Given the description of an element on the screen output the (x, y) to click on. 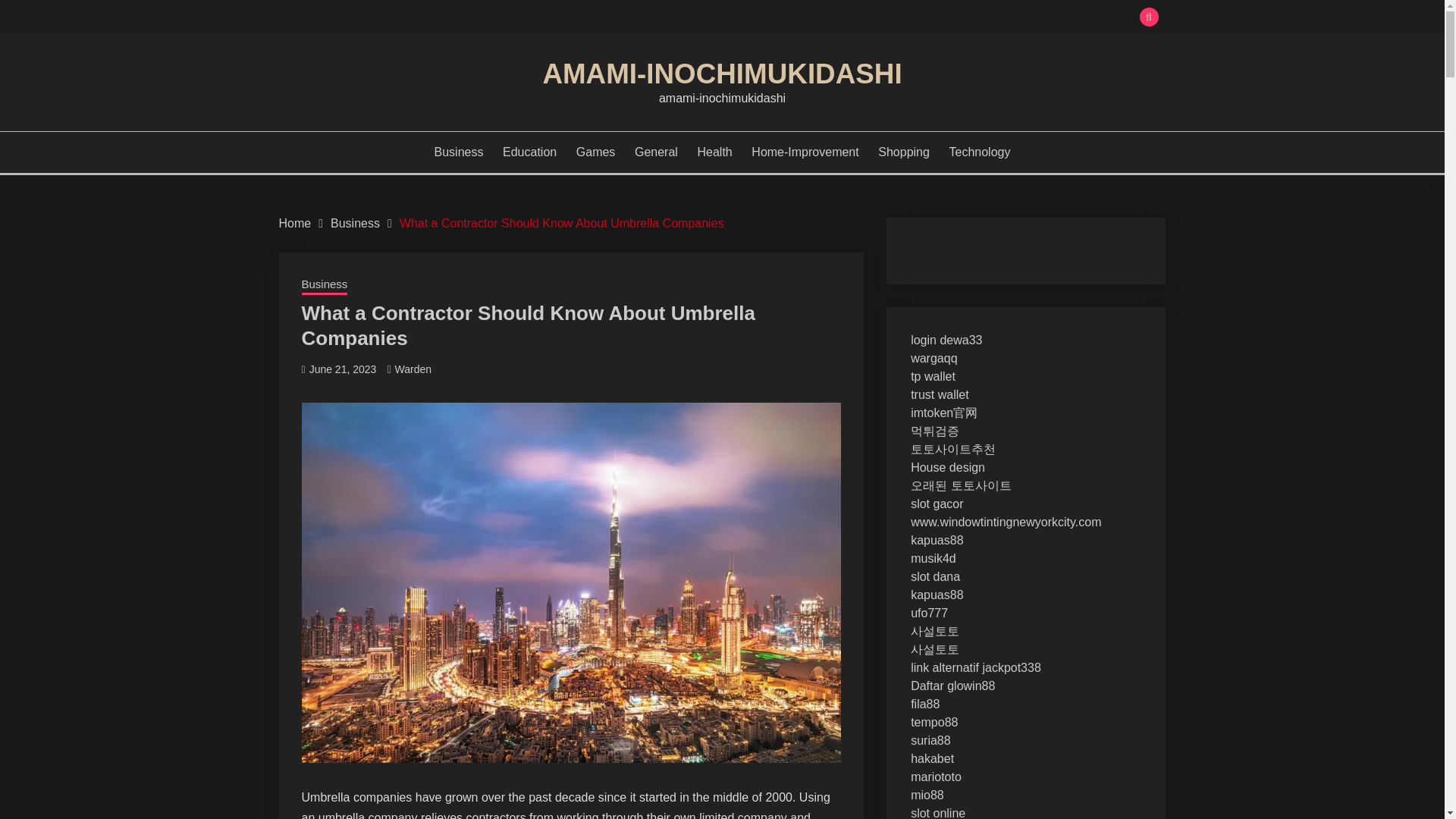
Warden (412, 369)
Home (295, 223)
Technology (979, 152)
Search (832, 18)
What a Contractor Should Know About Umbrella Companies (560, 223)
June 21, 2023 (342, 369)
Home-Improvement (805, 152)
Business (324, 285)
Business (355, 223)
Health (714, 152)
